Given the description of an element on the screen output the (x, y) to click on. 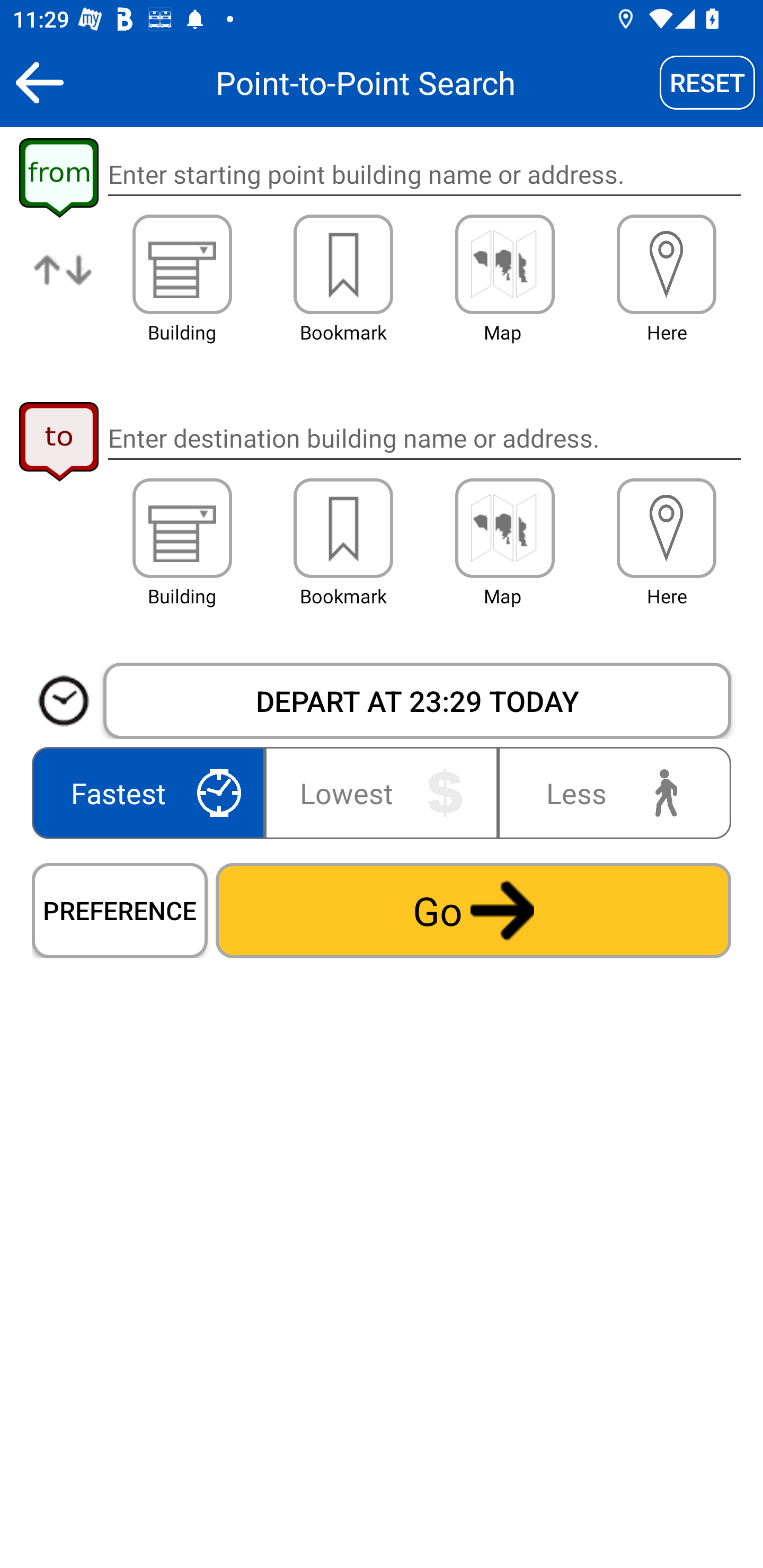
Back (39, 82)
RESET Reset (707, 81)
Enter starting point building name or address. (423, 174)
Building (181, 263)
Bookmarks (342, 263)
Select location on map (504, 263)
Here (666, 263)
Swap origin and destination (63, 284)
Enter destination building name or address. (423, 437)
Building (181, 528)
Bookmarks (342, 528)
Select location on map (504, 528)
Here (666, 528)
Lowest (381, 792)
Fastest selected (151, 792)
Less (610, 792)
PREFERENCE Preference (119, 910)
Go (472, 910)
